Given the description of an element on the screen output the (x, y) to click on. 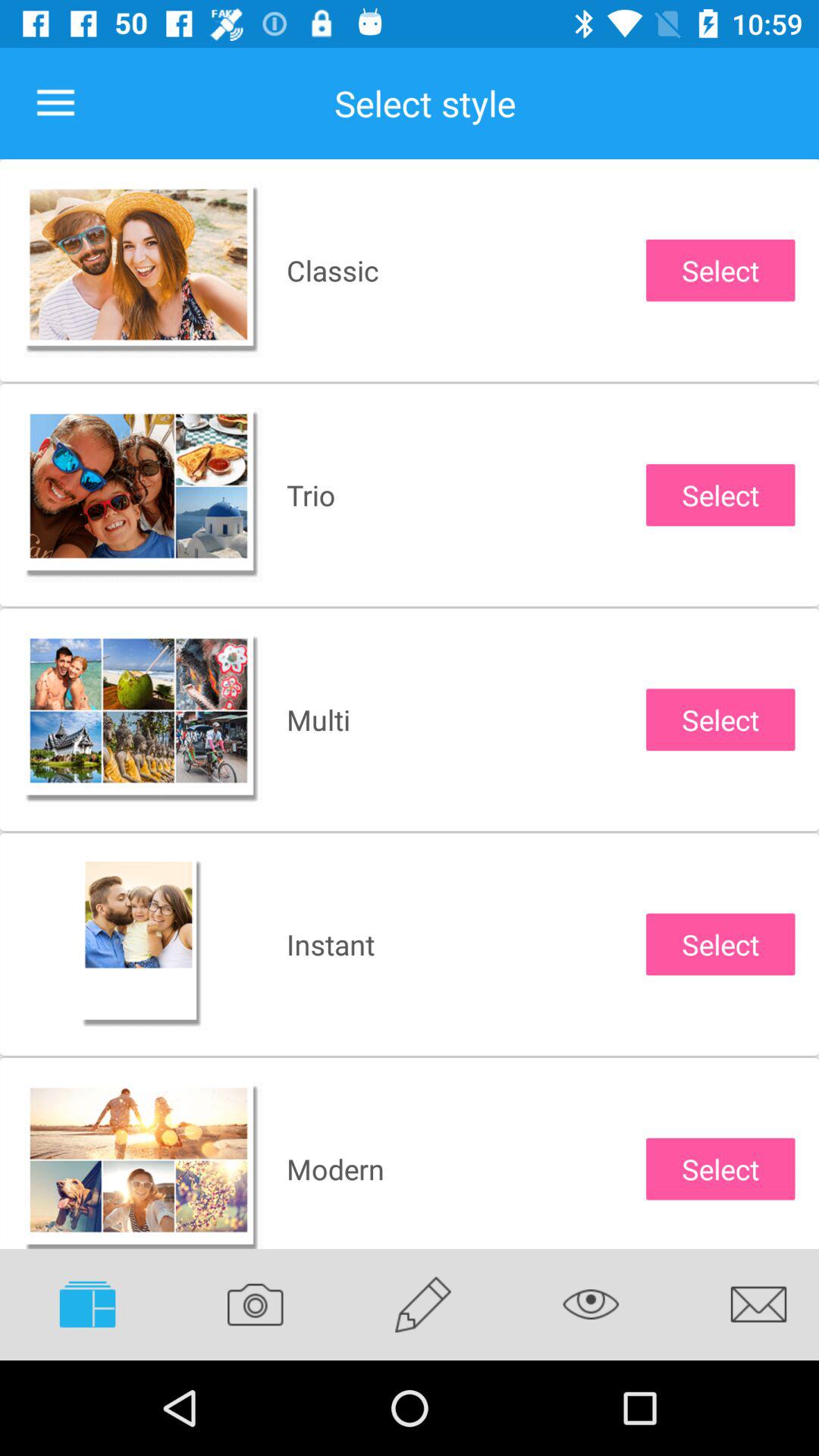
tap the item below select icon (747, 1304)
